Given the description of an element on the screen output the (x, y) to click on. 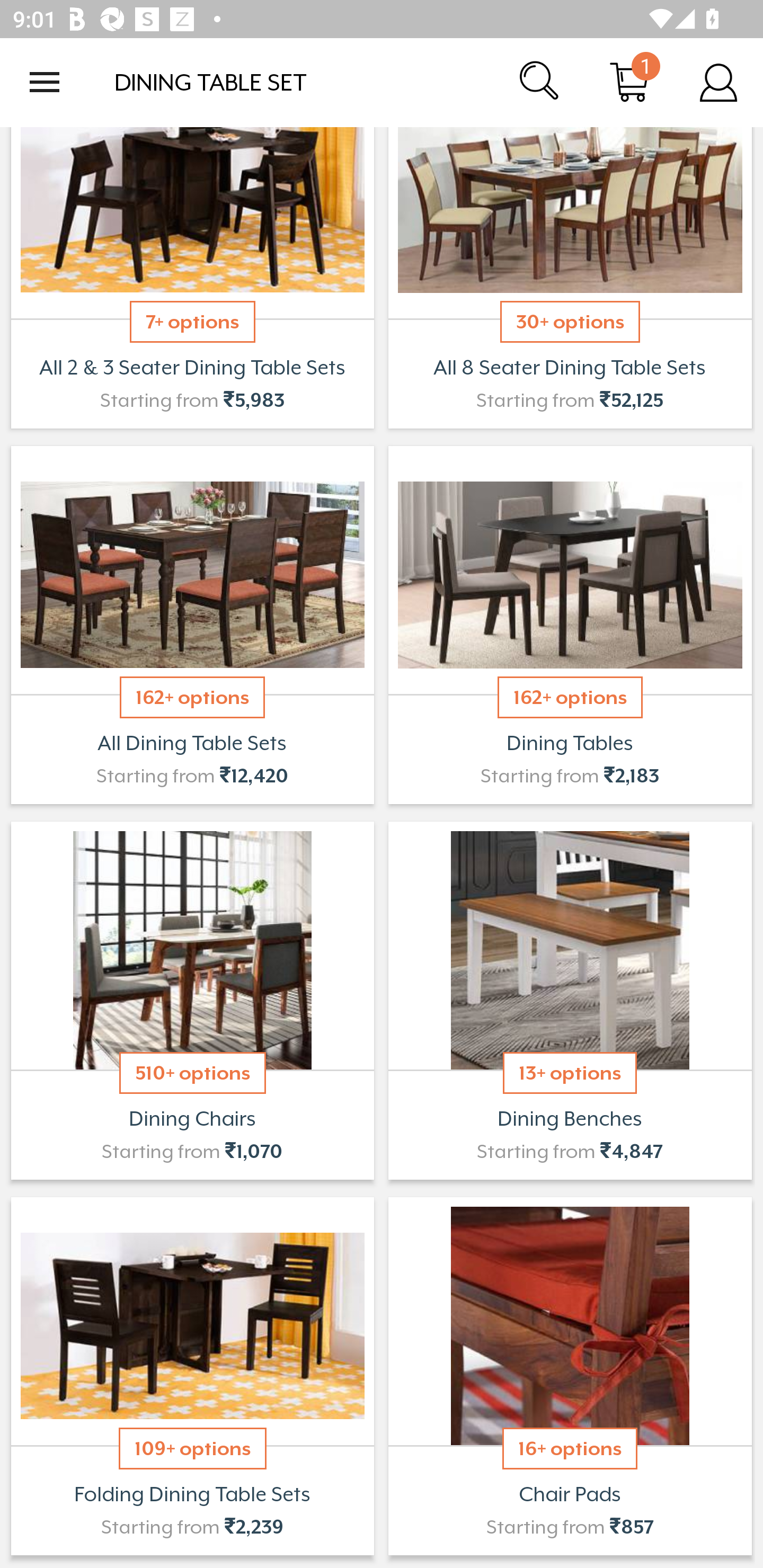
Open navigation drawer (44, 82)
Search (540, 81)
Cart (629, 81)
Account Details (718, 81)
162+ options Dining Tables Starting from  ₹2,183 (570, 624)
510+ options Dining Chairs Starting from  ₹1,070 (191, 999)
13+ options Dining Benches Starting from  ₹4,847 (570, 999)
16+ options Chair Pads Starting from  ₹857 (570, 1375)
